Given the description of an element on the screen output the (x, y) to click on. 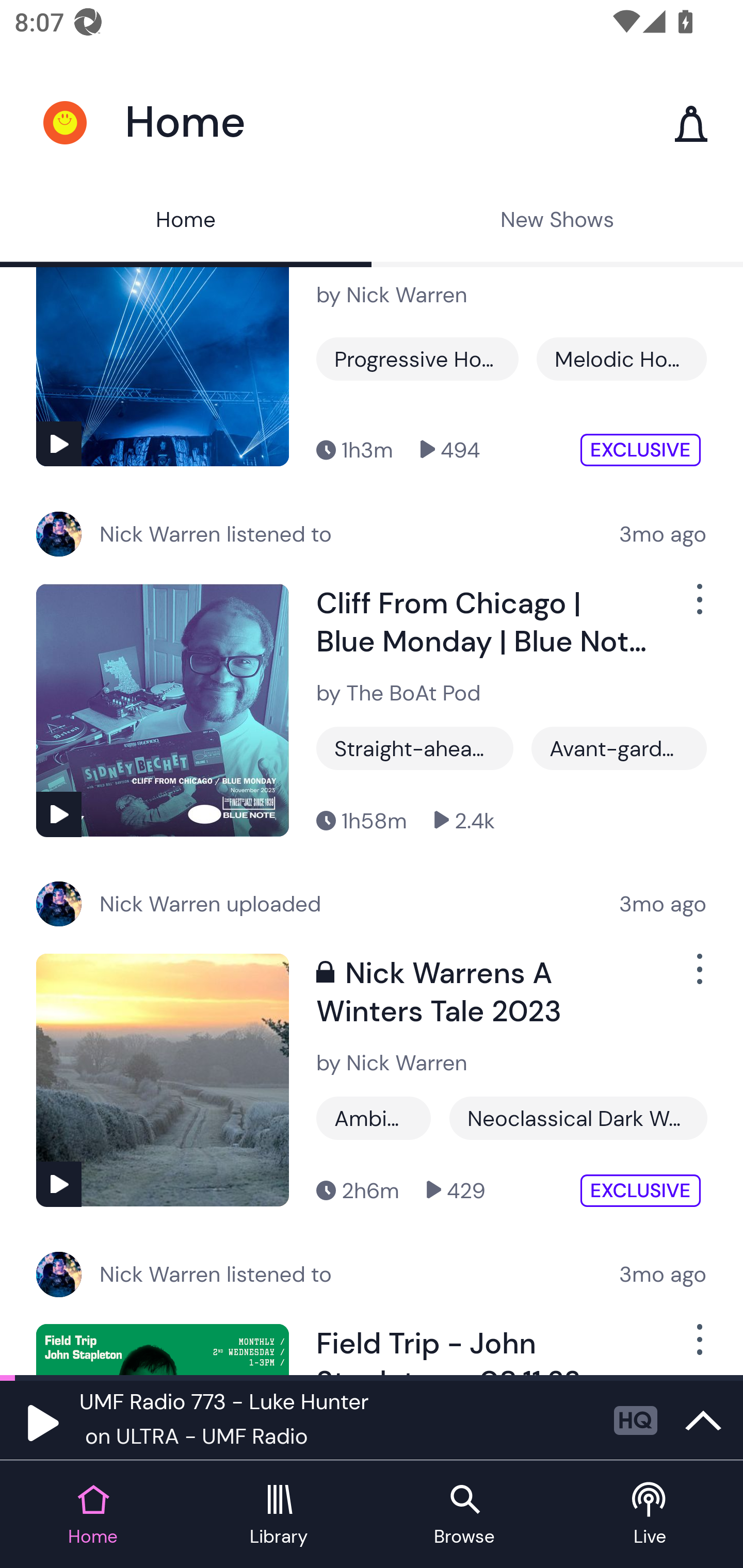
Home (185, 221)
New Shows (557, 221)
Progressive House (417, 359)
Melodic House (621, 359)
Show Options Menu Button (697, 606)
Straight-ahead Jazz (414, 747)
Avant-garde Jazz (618, 747)
Show Options Menu Button (697, 976)
Ambient (373, 1117)
Neoclassical Dark Wave (577, 1117)
Show Options Menu Button (697, 1346)
Home tab Home (92, 1515)
Library tab Library (278, 1515)
Browse tab Browse (464, 1515)
Live tab Live (650, 1515)
